Given the description of an element on the screen output the (x, y) to click on. 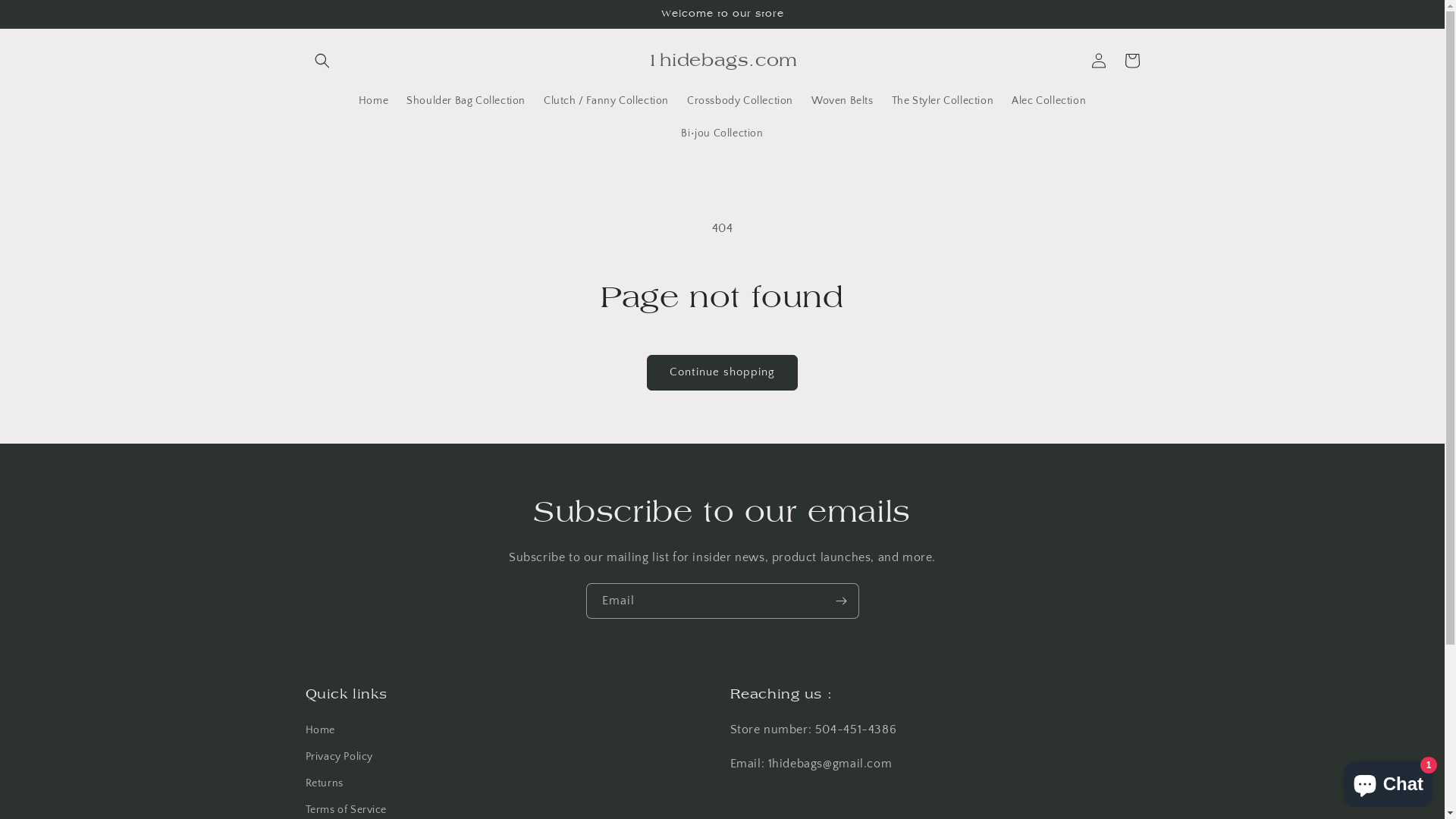
Privacy Policy Element type: text (338, 756)
Home Element type: text (319, 732)
Cart Element type: text (1131, 60)
1hidebags.com Element type: text (722, 60)
Shopify online store chat Element type: hover (1388, 780)
Returns Element type: text (323, 783)
Home Element type: text (373, 100)
Continue shopping Element type: text (721, 372)
Clutch / Fanny Collection Element type: text (605, 100)
Alec Collection Element type: text (1048, 100)
Crossbody Collection Element type: text (739, 100)
Log in Element type: text (1097, 60)
Shoulder Bag Collection Element type: text (465, 100)
The Styler Collection Element type: text (942, 100)
Woven Belts Element type: text (842, 100)
